Given the description of an element on the screen output the (x, y) to click on. 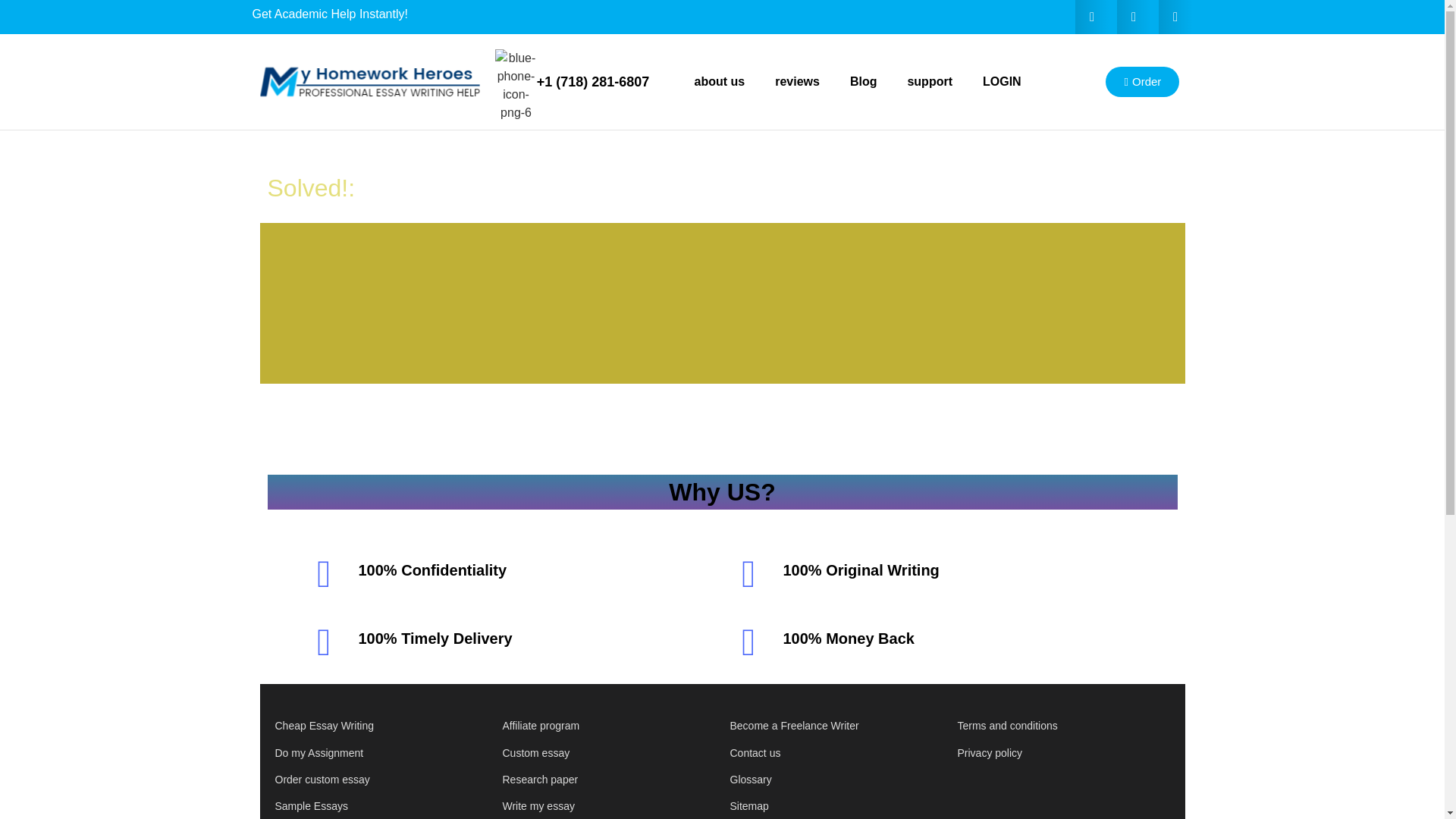
LOGIN (1002, 81)
support (929, 81)
Blog (863, 81)
about us (719, 81)
Order (1142, 81)
reviews (797, 81)
